Given the description of an element on the screen output the (x, y) to click on. 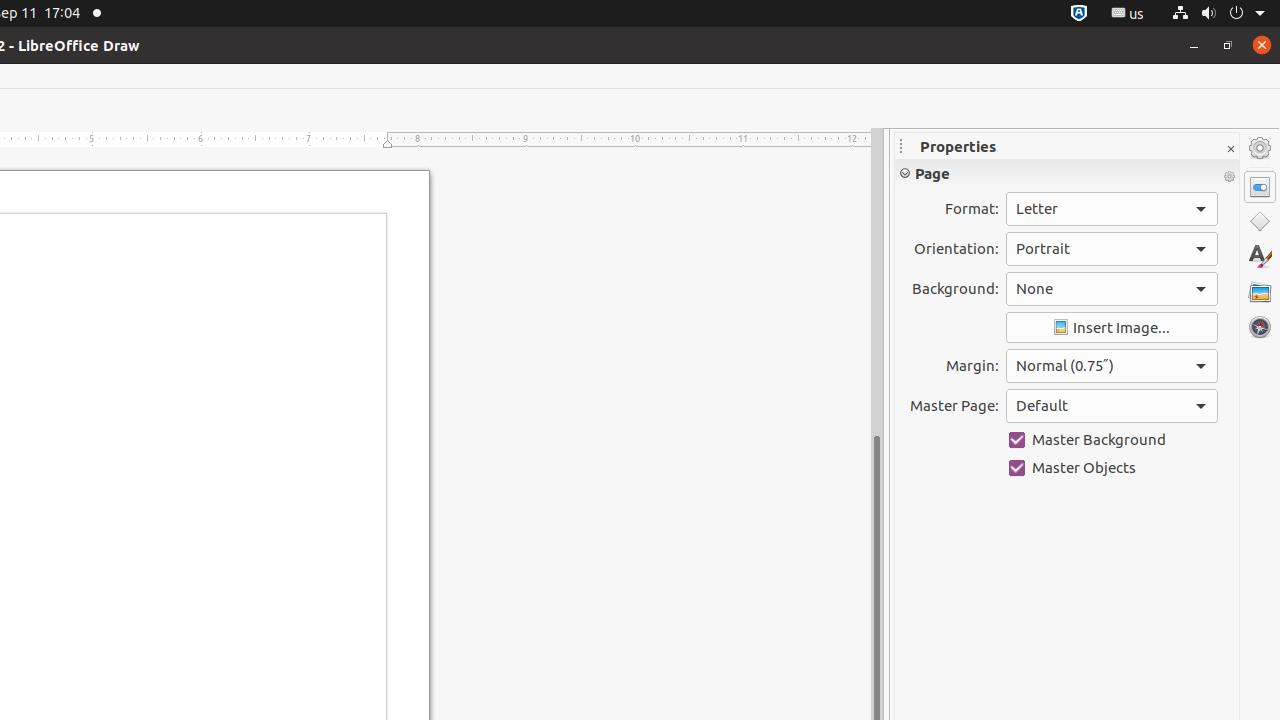
Background: Element type: combo-box (1112, 289)
Styles Element type: radio-button (1260, 256)
Navigator Element type: radio-button (1260, 327)
Close Sidebar Deck Element type: push-button (1230, 149)
Page Element type: panel (1067, 173)
